Given the description of an element on the screen output the (x, y) to click on. 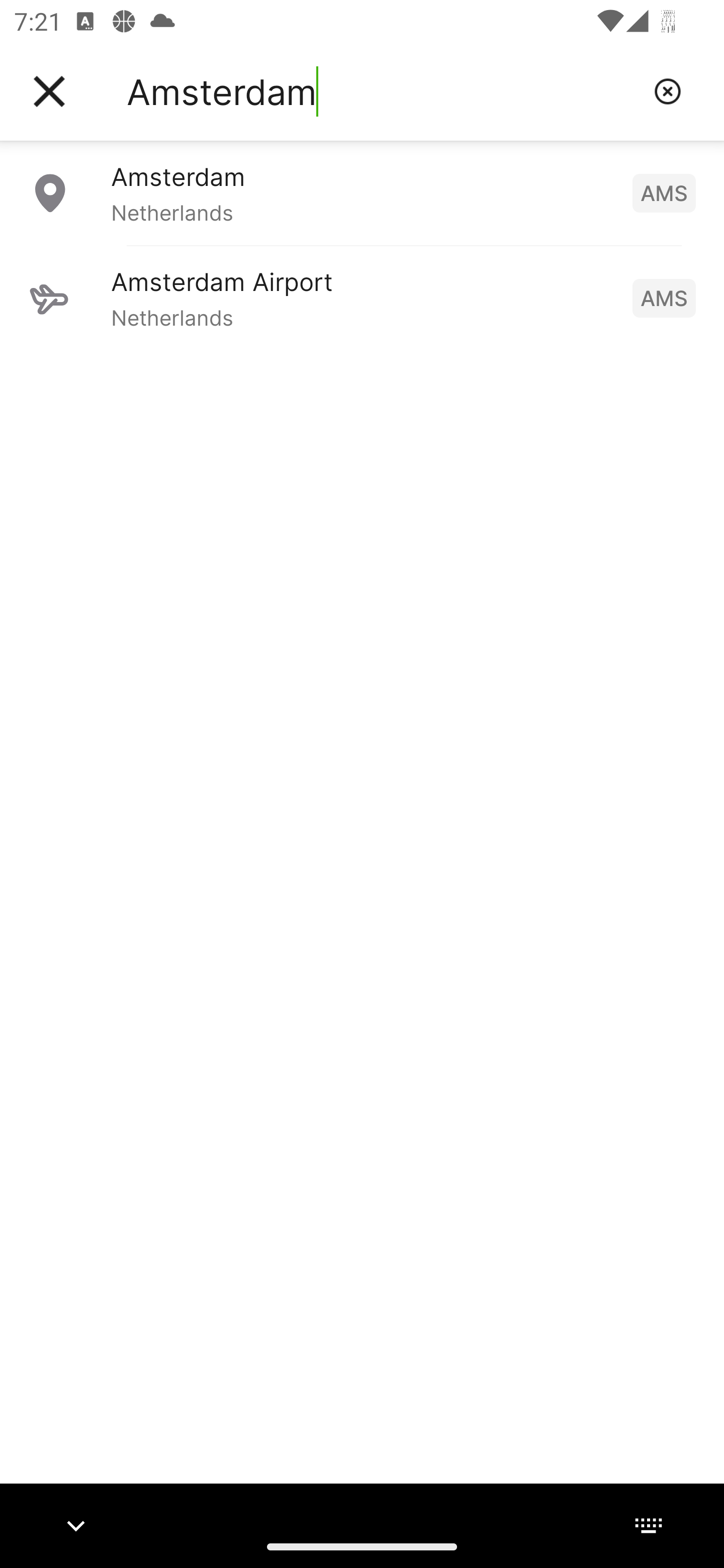
Amsterdam (382, 91)
Amsterdam Netherlands AMS (362, 192)
Amsterdam Airport Netherlands AMS (362, 297)
